Given the description of an element on the screen output the (x, y) to click on. 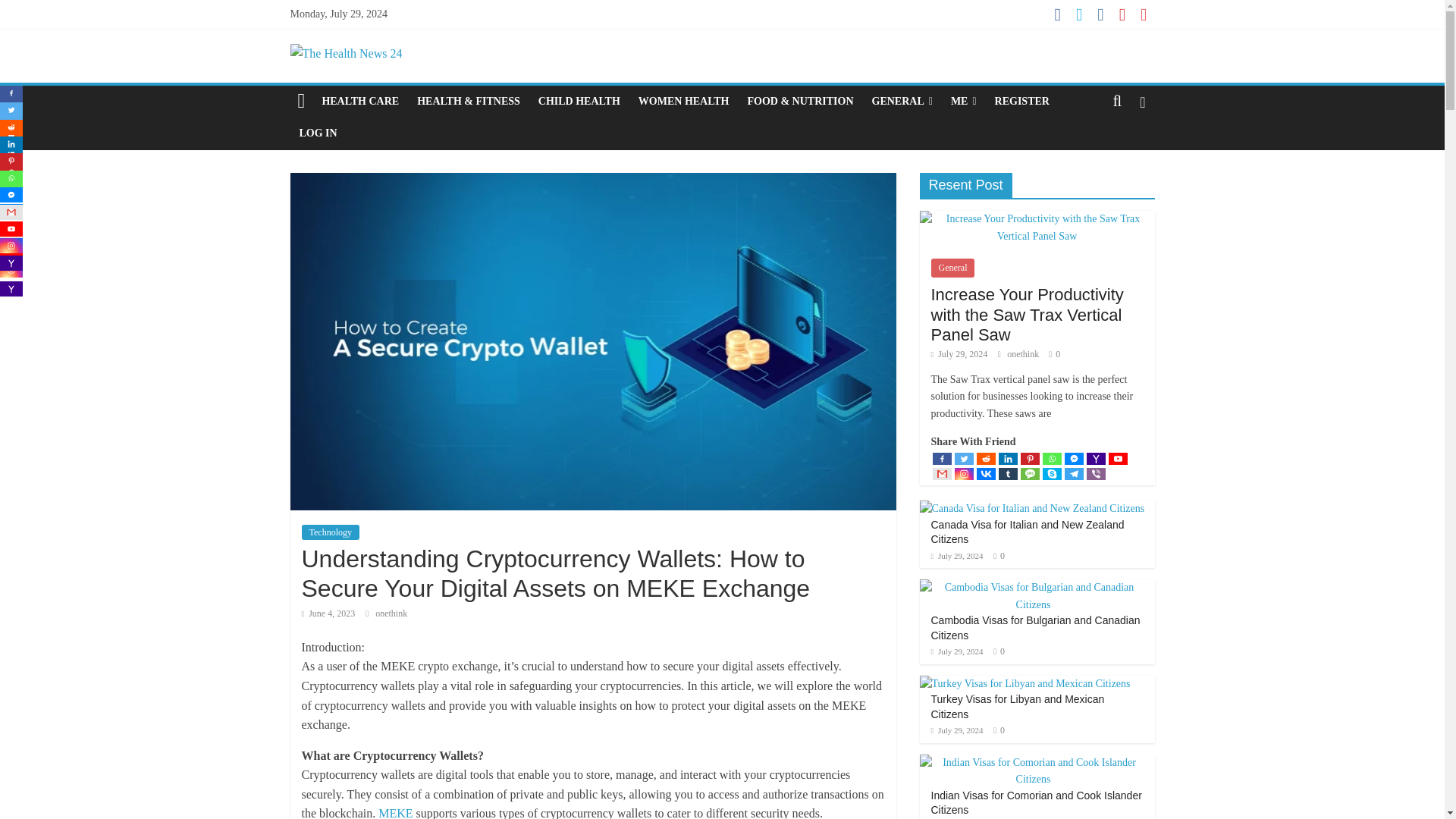
LOG IN (317, 133)
WOMEN HEALTH (683, 101)
onethink (391, 613)
Technology (330, 531)
HEALTH CARE (360, 101)
7:39 pm (328, 613)
onethink (391, 613)
June 4, 2023 (328, 613)
ME (963, 101)
MEKE (395, 812)
CHILD HEALTH (578, 101)
GENERAL (902, 101)
REGISTER (1021, 101)
